Given the description of an element on the screen output the (x, y) to click on. 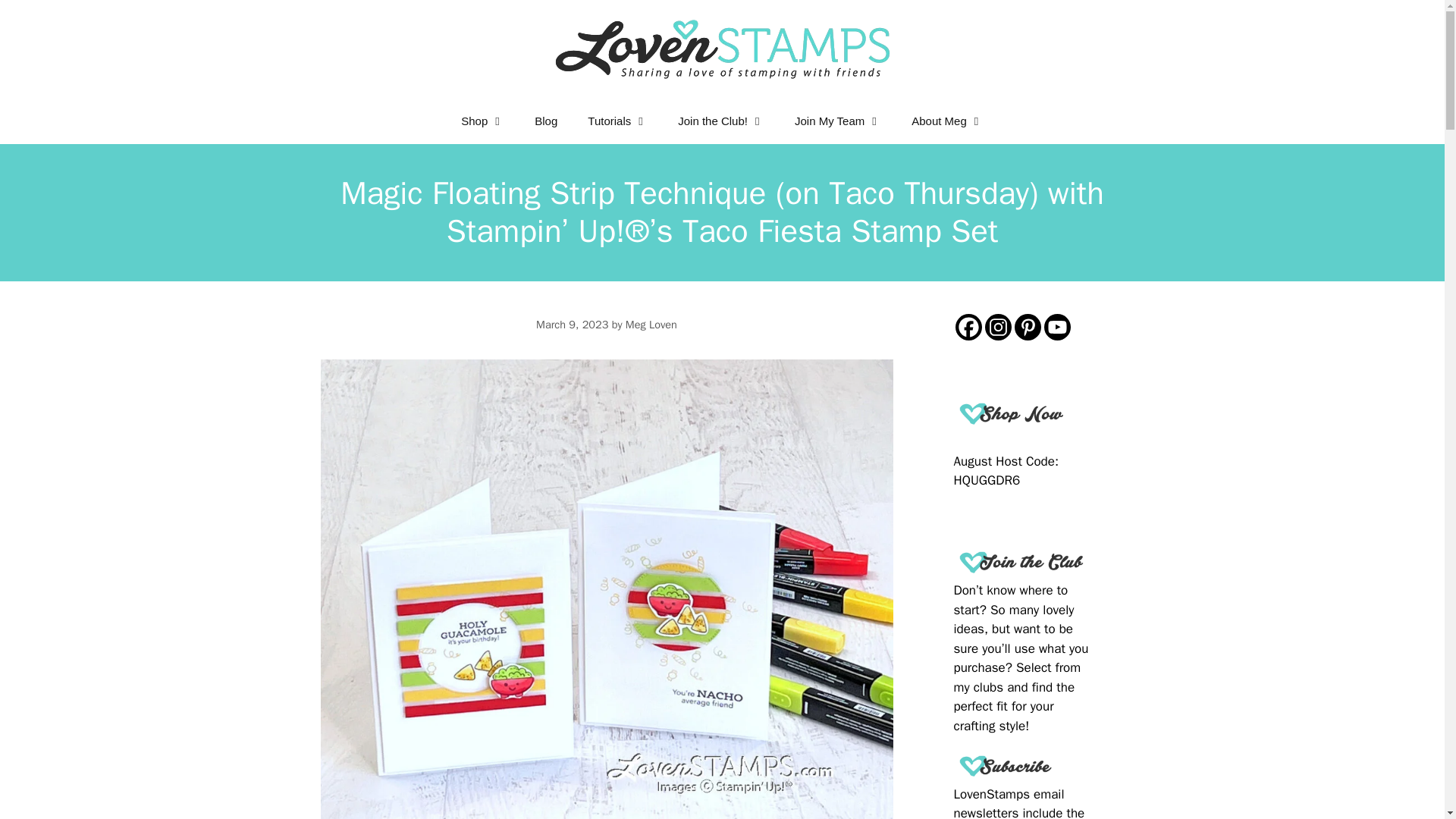
Join the Club! (720, 121)
Join My Team (837, 121)
Blog (545, 121)
Tutorials (617, 121)
Meg Loven (651, 324)
About Meg (947, 121)
About Meg Loven (947, 121)
Join My Community and Have It ALL! (837, 121)
Shop (482, 121)
